Given the description of an element on the screen output the (x, y) to click on. 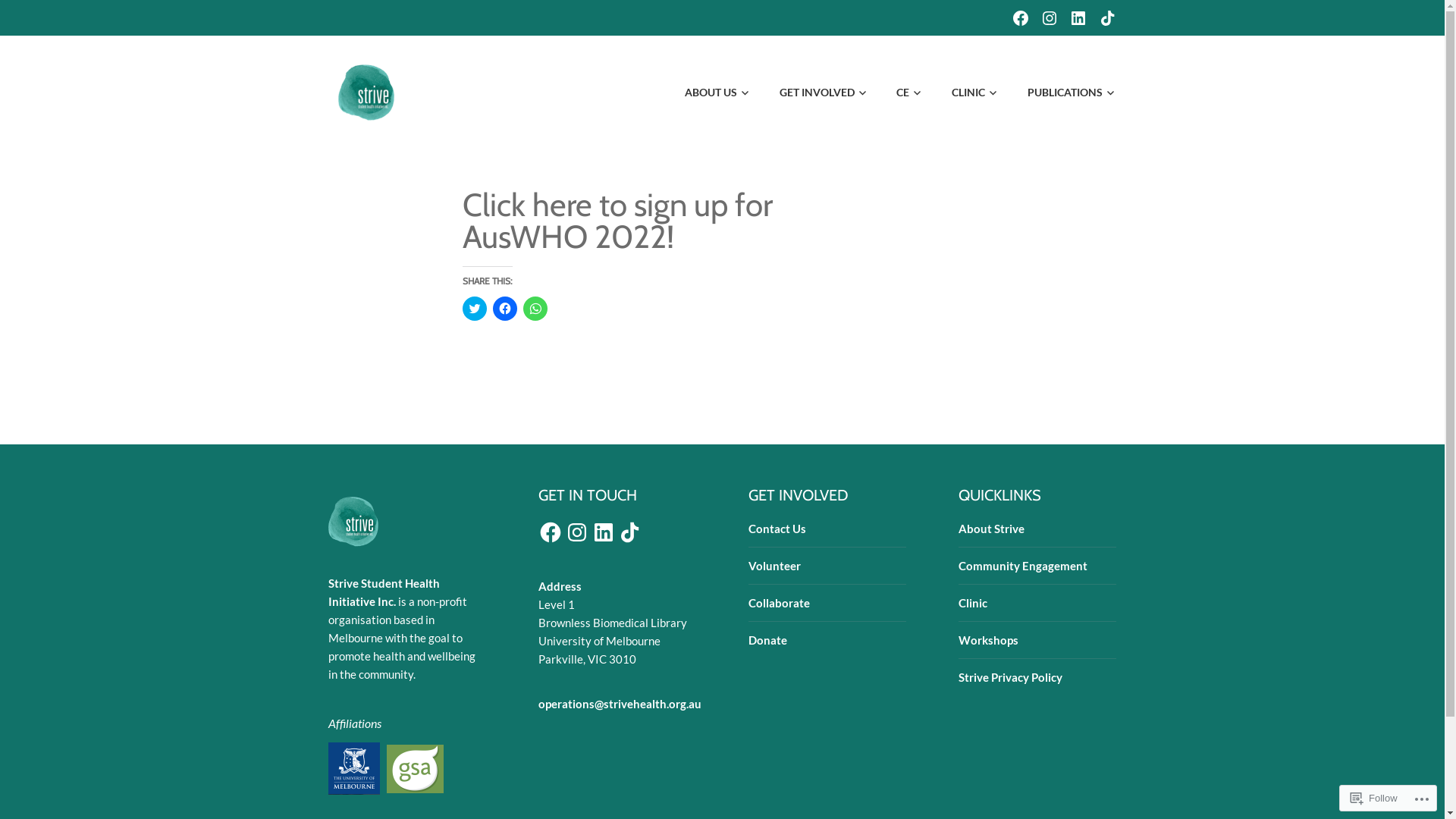
Volunteer Element type: text (774, 565)
Community Engagement Element type: text (1022, 565)
Strive Privacy Policy Element type: text (1010, 677)
Clinic Element type: text (972, 602)
STRIVE STUDENT HEALTH INITIATIVE Element type: text (671, 70)
Donate Element type: text (767, 639)
Contact Us Element type: text (777, 528)
Collaborate Element type: text (778, 602)
GET INVOLVED Element type: text (811, 92)
Workshops Element type: text (988, 639)
Click to share on WhatsApp (Opens in new window) Element type: text (535, 308)
Follow Element type: text (1373, 797)
Click to share on Twitter (Opens in new window) Element type: text (474, 308)
About Strive Element type: text (991, 528)
ABOUT US Element type: text (705, 92)
PUBLICATIONS Element type: text (1059, 92)
CE Element type: text (897, 92)
CLINIC Element type: text (962, 92)
operations@strivehealth.org.au Element type: text (619, 703)
Click to share on Facebook (Opens in new window) Element type: text (504, 308)
